Given the description of an element on the screen output the (x, y) to click on. 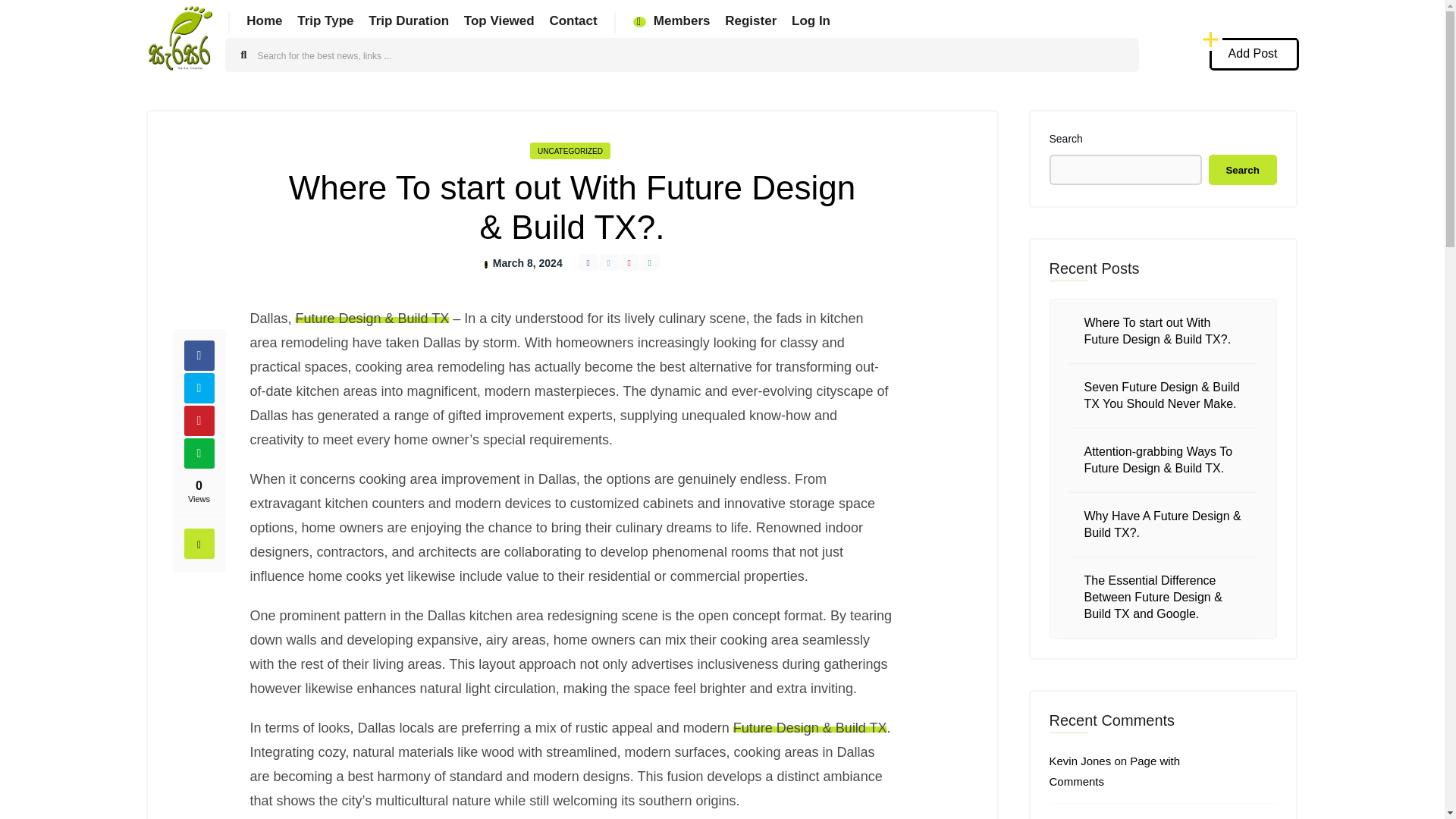
Members (671, 20)
Top Viewed (499, 20)
Contact (572, 20)
Add Post (1253, 53)
UNCATEGORIZED (569, 150)
Home (264, 20)
Trip Type (325, 20)
Register (750, 20)
Trip Duration (408, 20)
Log In (810, 20)
